Given the description of an element on the screen output the (x, y) to click on. 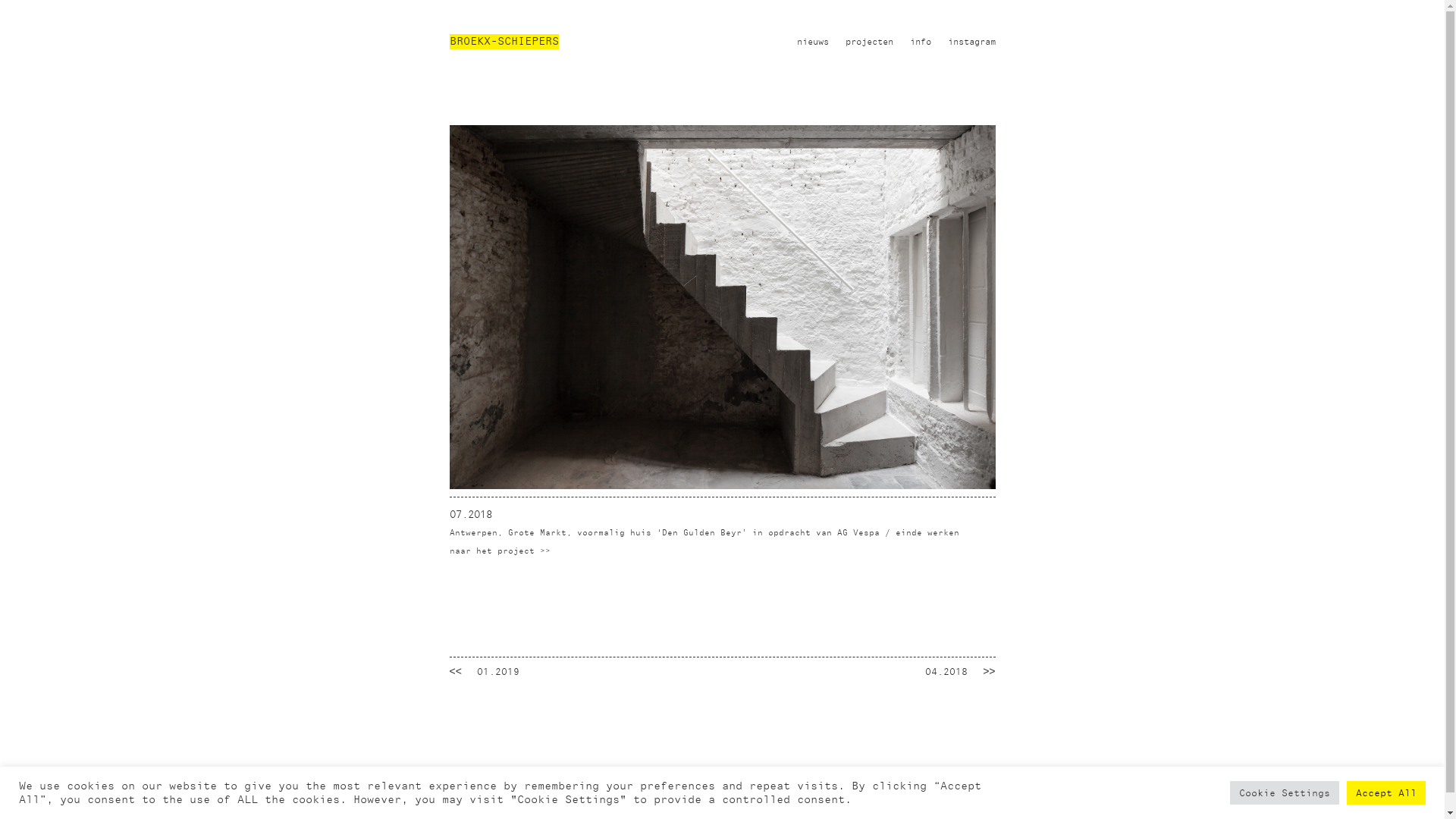
info Element type: text (920, 41)
nieuws Element type: text (812, 41)
BROEKX-SCHIEPERS Element type: text (503, 41)
Older Post
04.2018 Element type: text (953, 671)
projecten Element type: text (868, 41)
Newer Post
01.2019 Element type: text (489, 671)
Accept All Element type: text (1385, 792)
naar het project >> Element type: text (498, 550)
instagram Element type: text (971, 41)
Cookie Settings Element type: text (1284, 792)
